Given the description of an element on the screen output the (x, y) to click on. 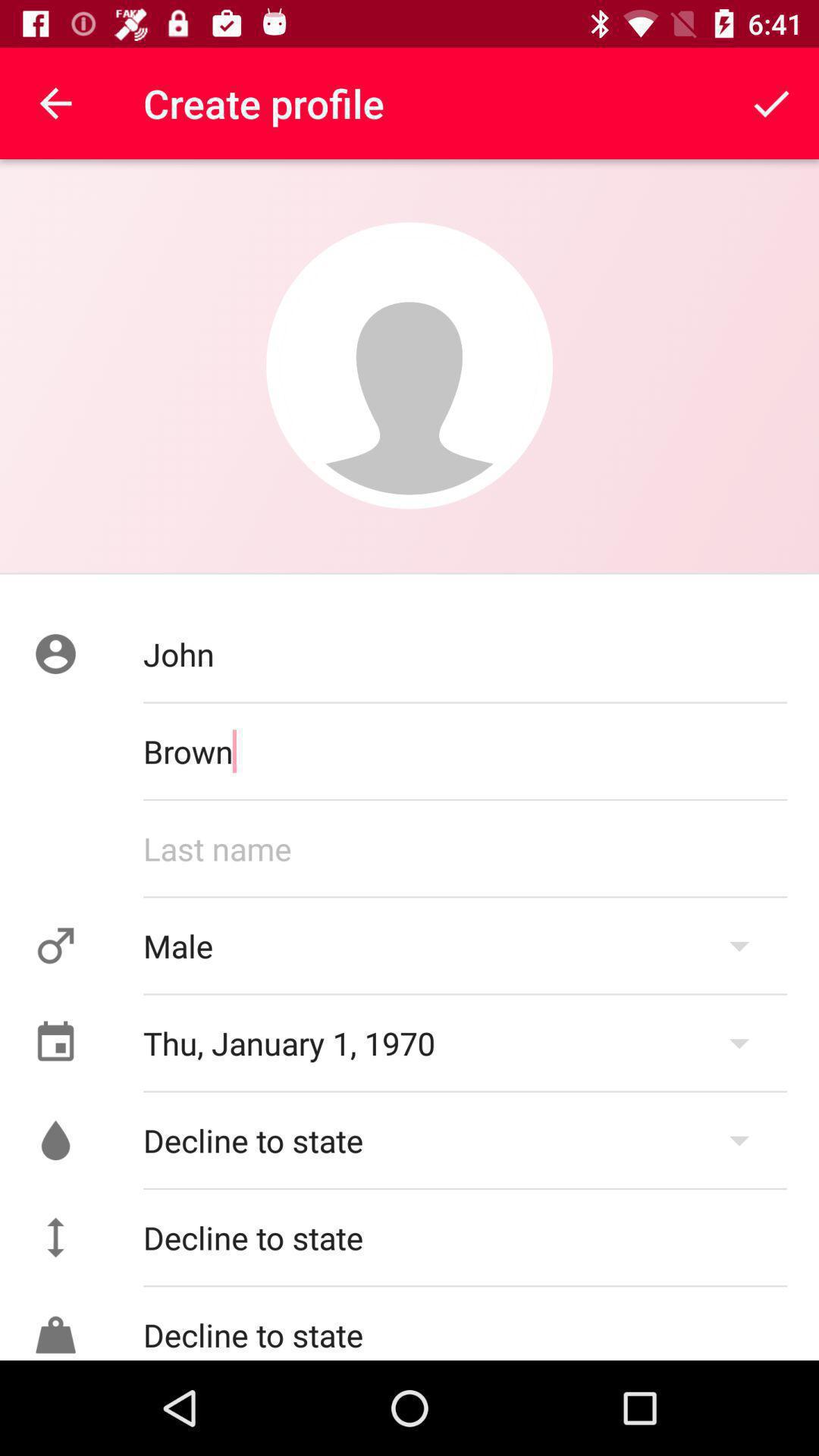
enter last name (465, 848)
